Given the description of an element on the screen output the (x, y) to click on. 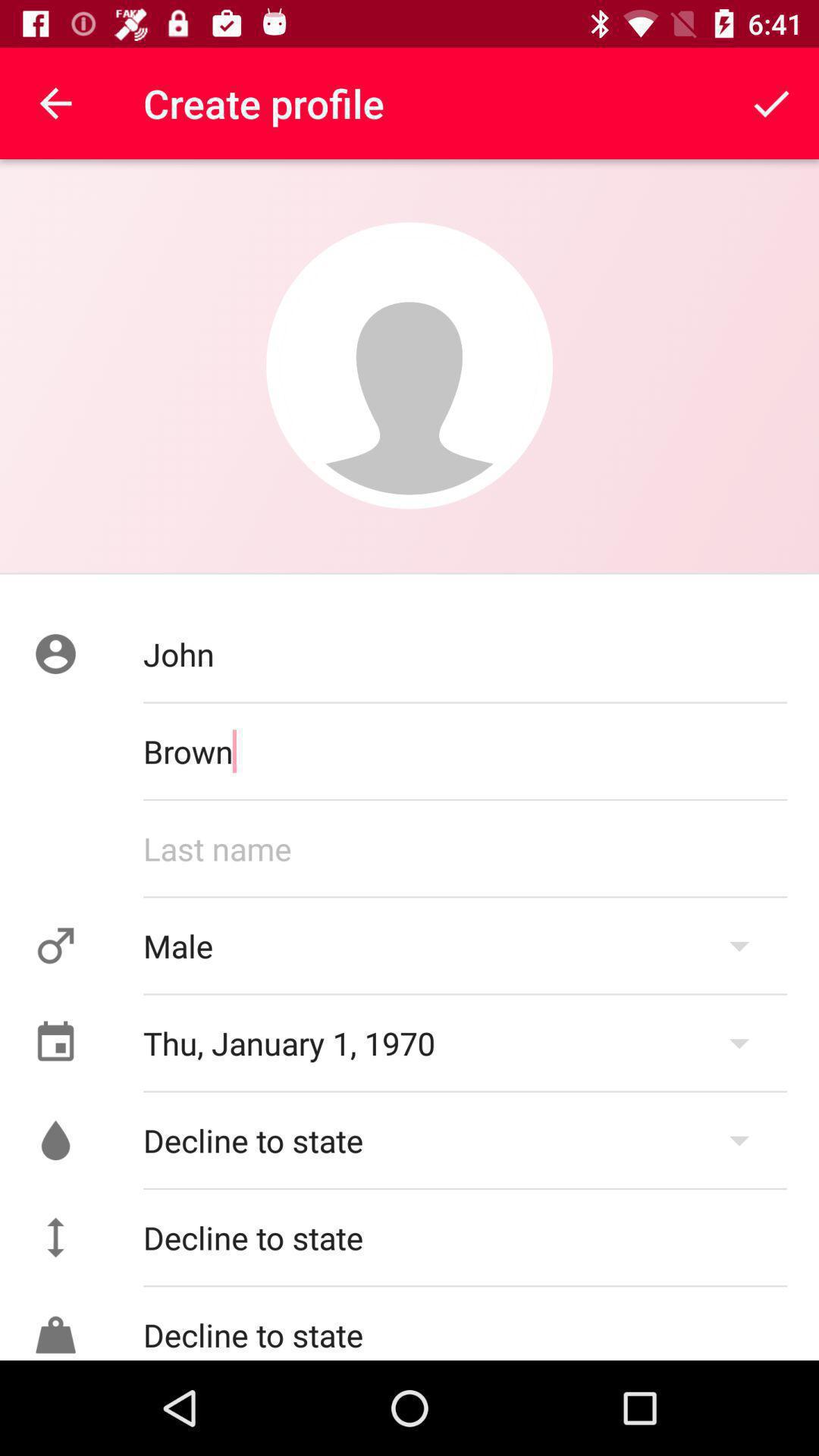
enter last name (465, 848)
